Given the description of an element on the screen output the (x, y) to click on. 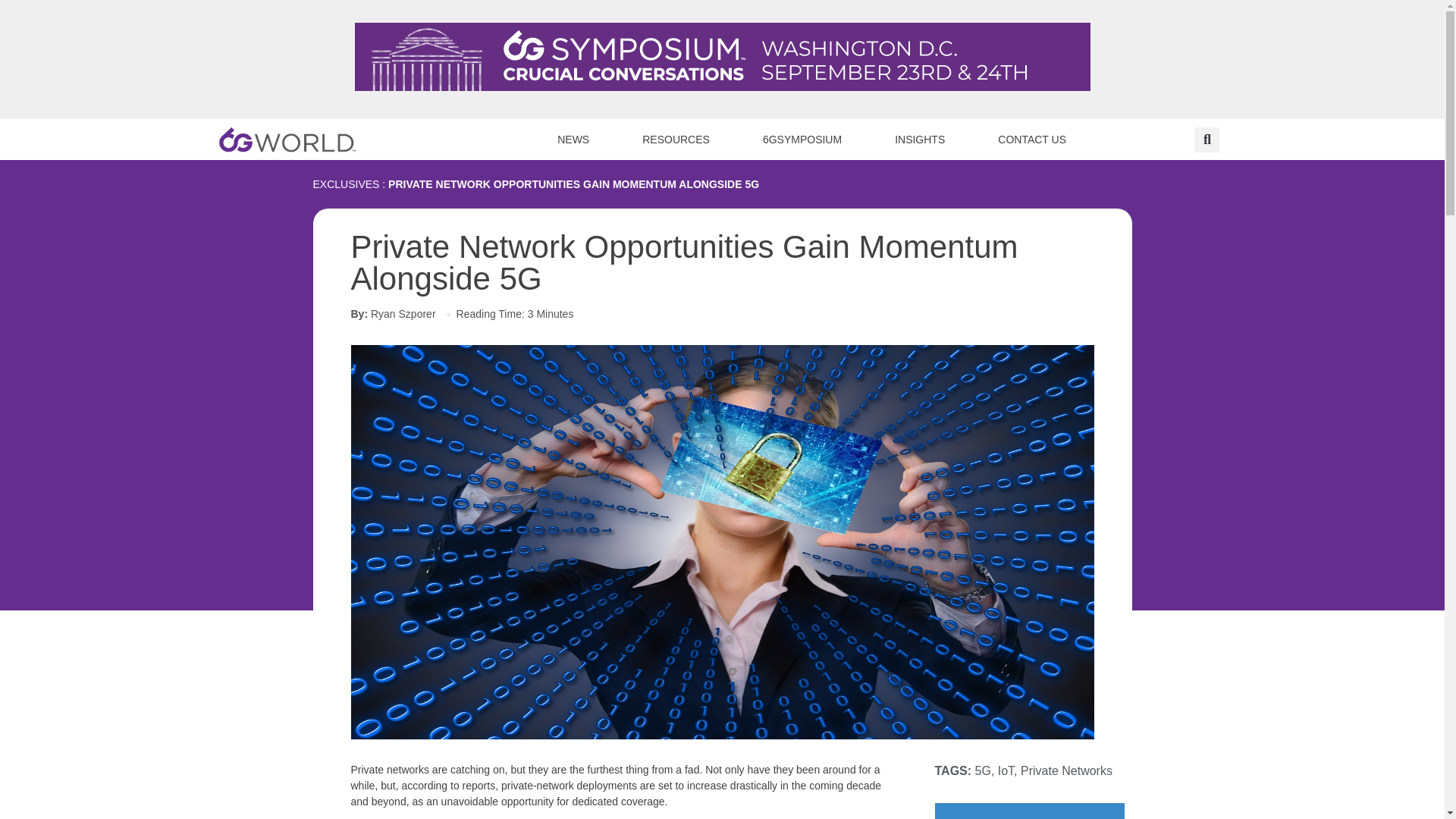
EXCLUSIVES (345, 184)
RESOURCES (676, 138)
By: Ryan Szporer (392, 314)
6GSYMPOSIUM (801, 138)
NEWS (573, 138)
CONTACT US (1031, 138)
INSIGHTS (919, 138)
